Given the description of an element on the screen output the (x, y) to click on. 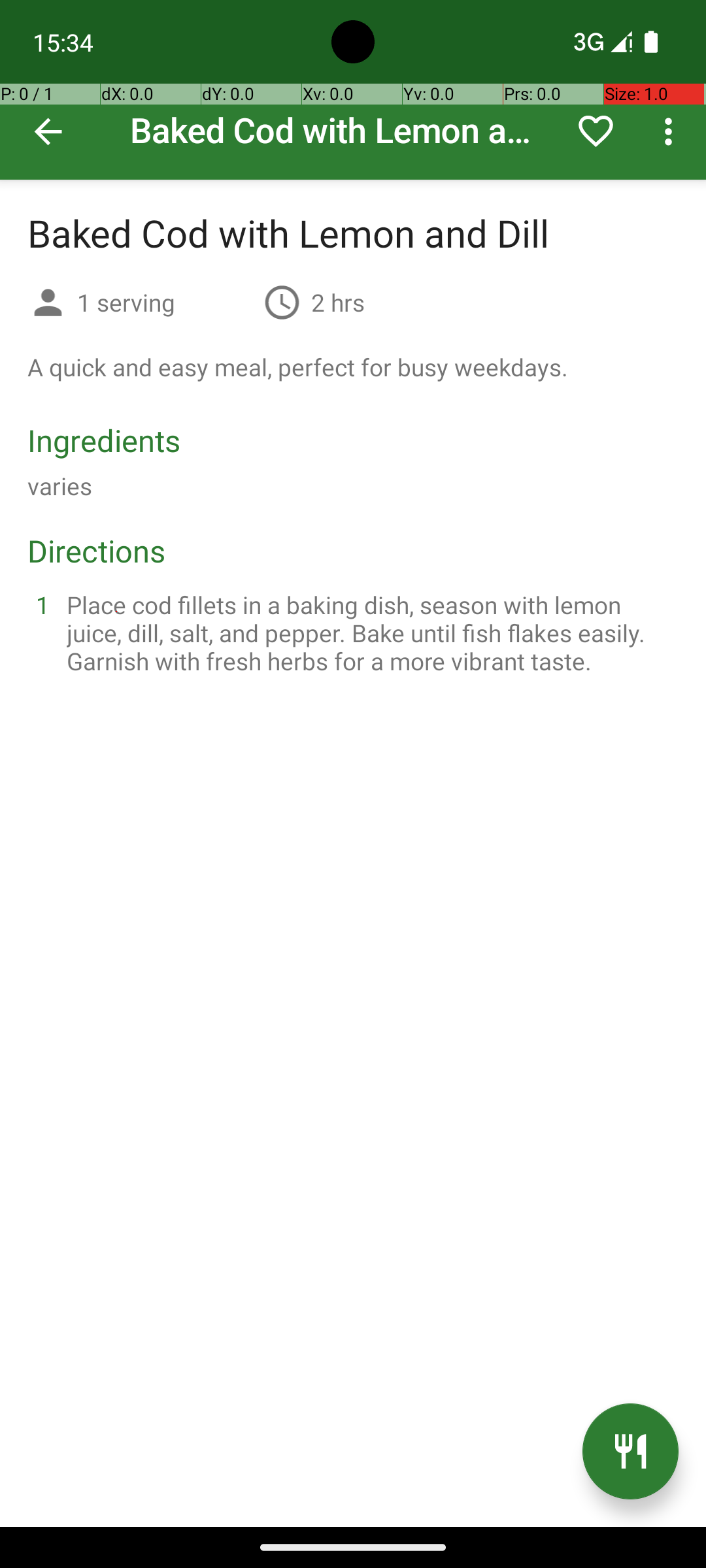
2 hrs Element type: android.widget.TextView (337, 301)
varies Element type: android.widget.TextView (59, 485)
Place cod fillets in a baking dish, season with lemon juice, dill, salt, and pepper. Bake until fish flakes easily. Garnish with fresh herbs for a more vibrant taste. Element type: android.widget.TextView (368, 632)
